Given the description of an element on the screen output the (x, y) to click on. 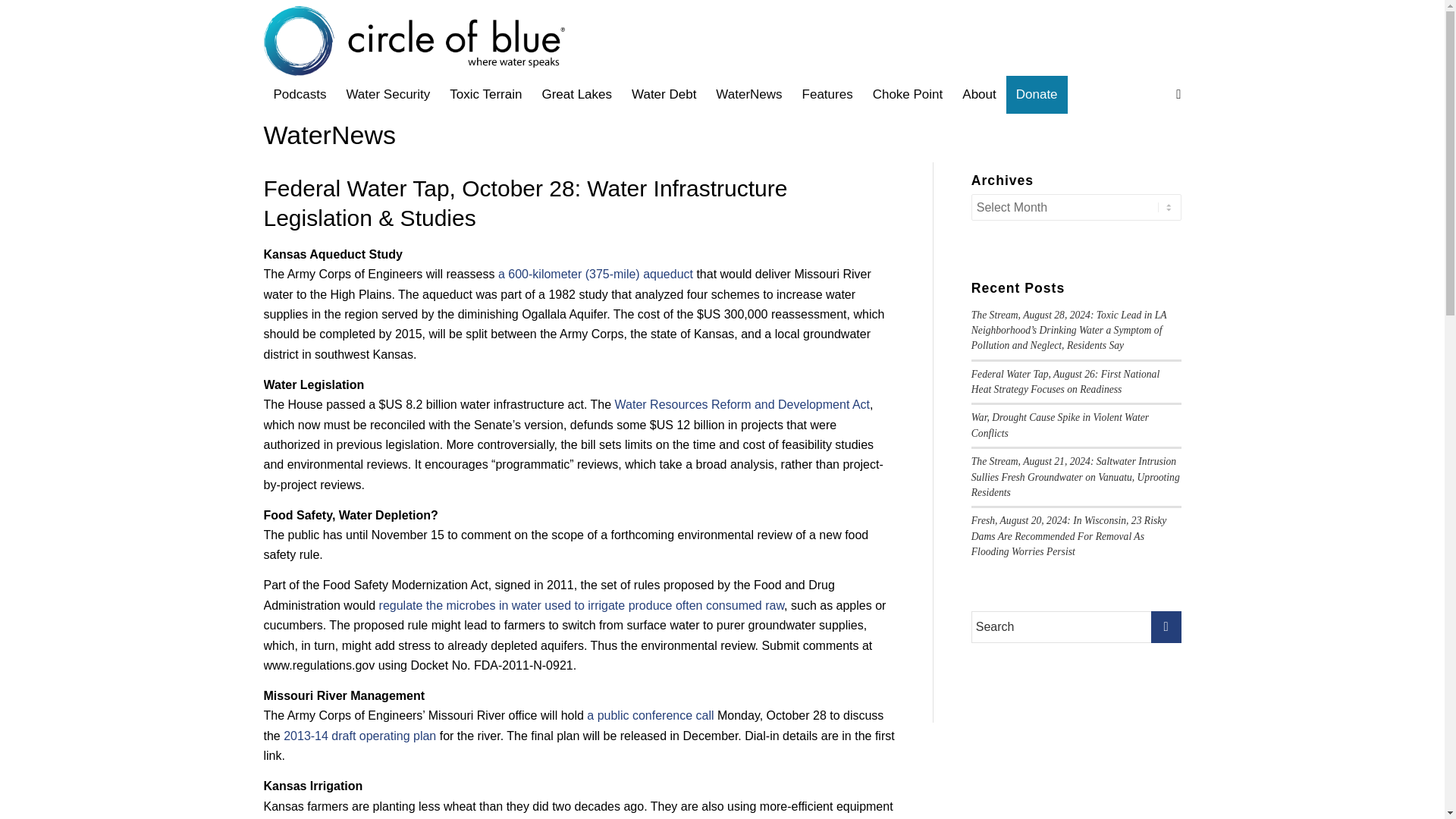
Water Security (387, 94)
Toxic Terrain (485, 94)
Water Debt (663, 94)
Features (827, 94)
WaterNews (749, 94)
Great Lakes (576, 94)
Podcasts (299, 94)
Permanent Link: WaterNews (329, 125)
